Given the description of an element on the screen output the (x, y) to click on. 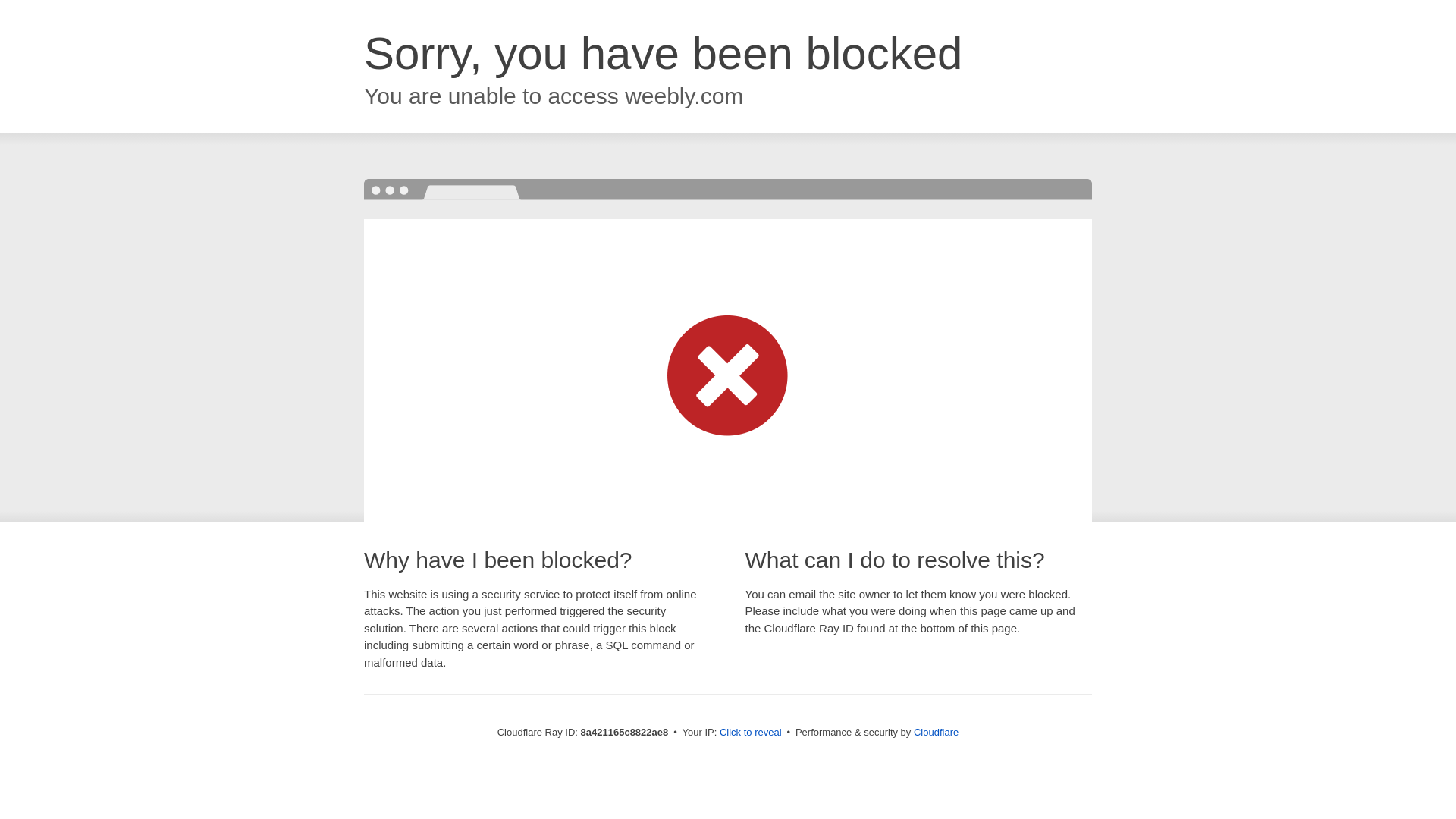
Click to reveal (750, 732)
Cloudflare (936, 731)
